Given the description of an element on the screen output the (x, y) to click on. 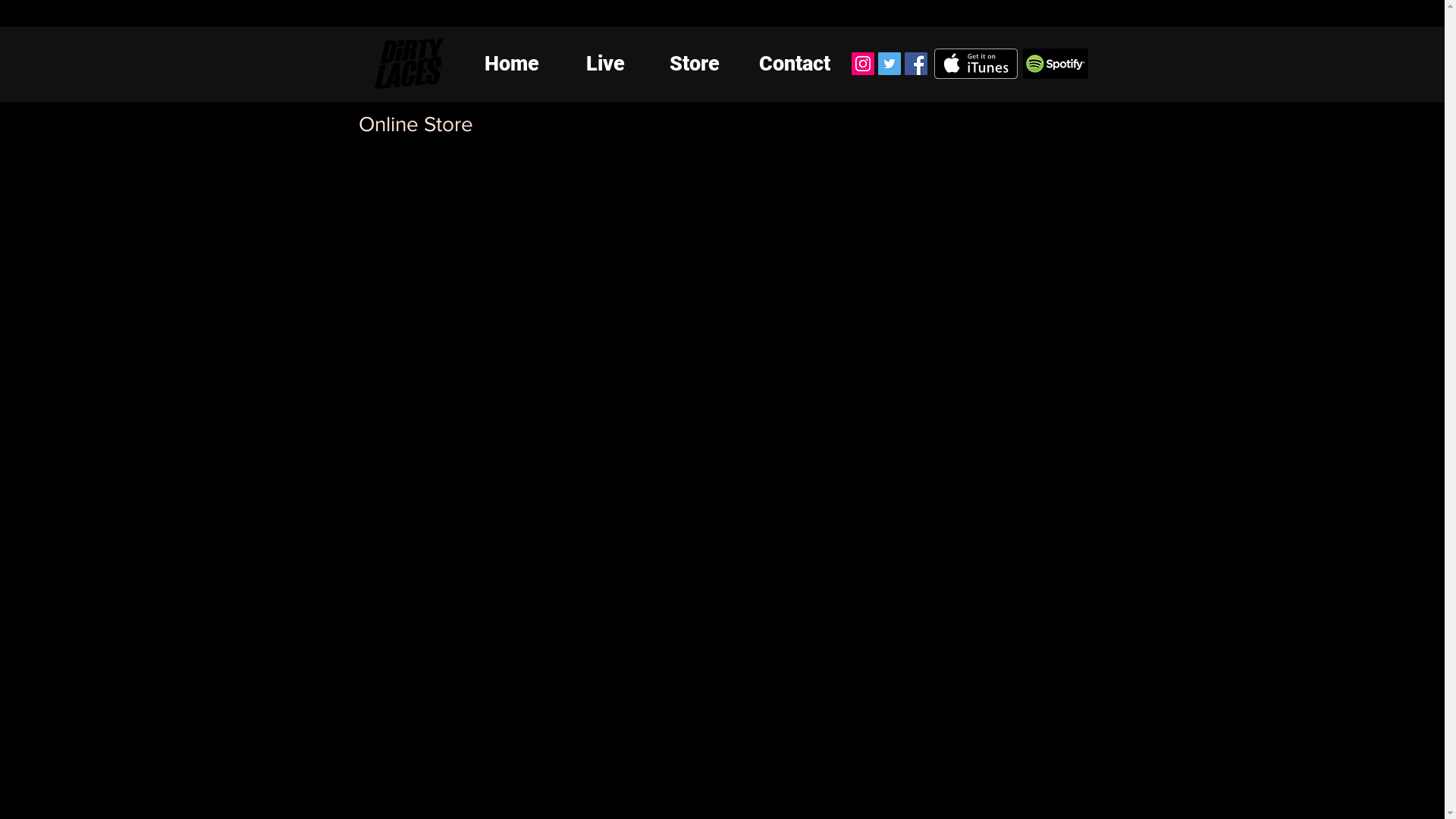
Online Store Element type: hover (721, 326)
Contact Element type: text (794, 64)
Store Element type: text (693, 64)
Get it on iTunes Element type: hover (975, 63)
Home Element type: text (511, 64)
Live Element type: text (604, 64)
